Given the description of an element on the screen output the (x, y) to click on. 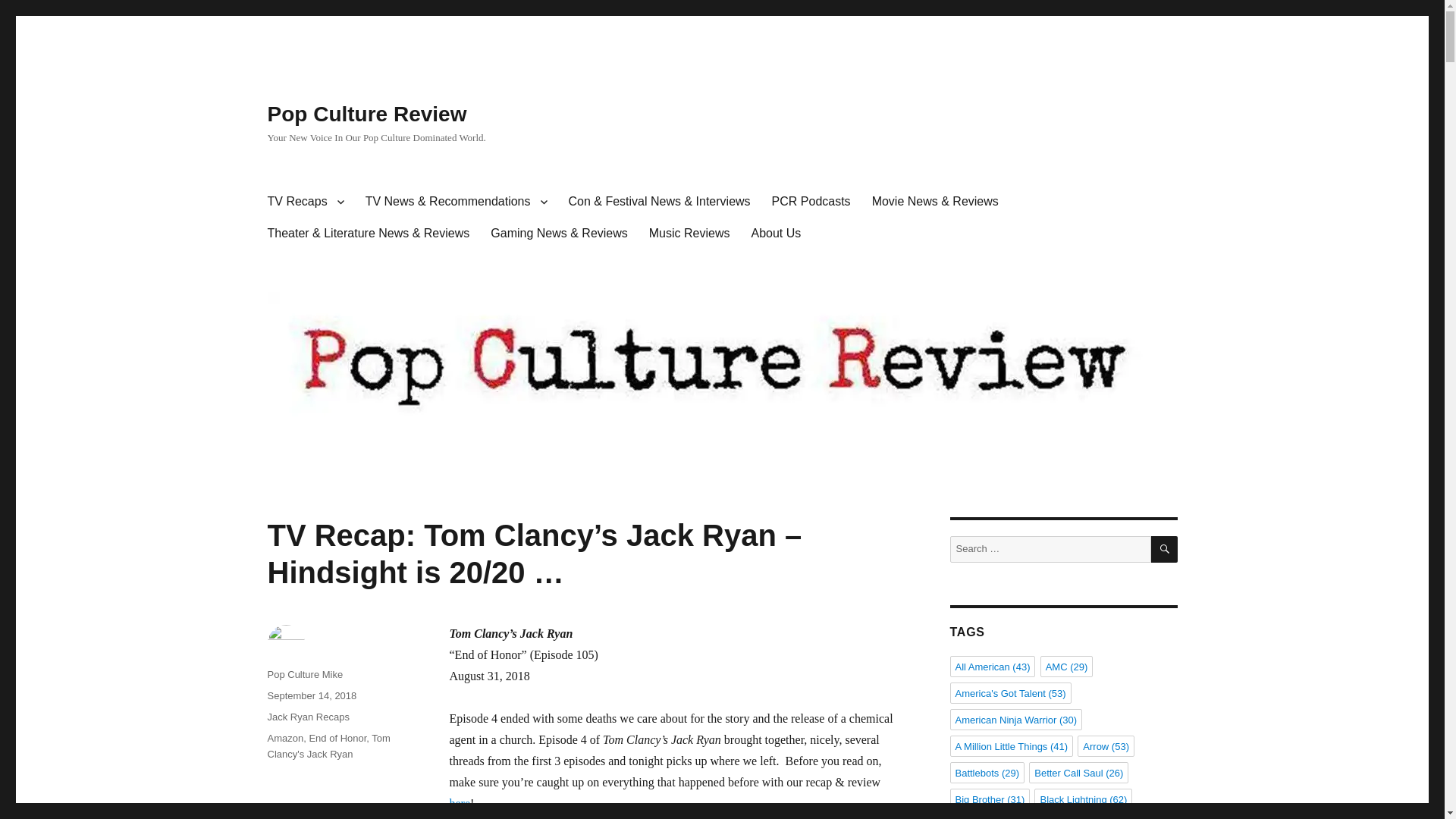
TV Recaps (304, 201)
Pop Culture Review (365, 114)
